Given the description of an element on the screen output the (x, y) to click on. 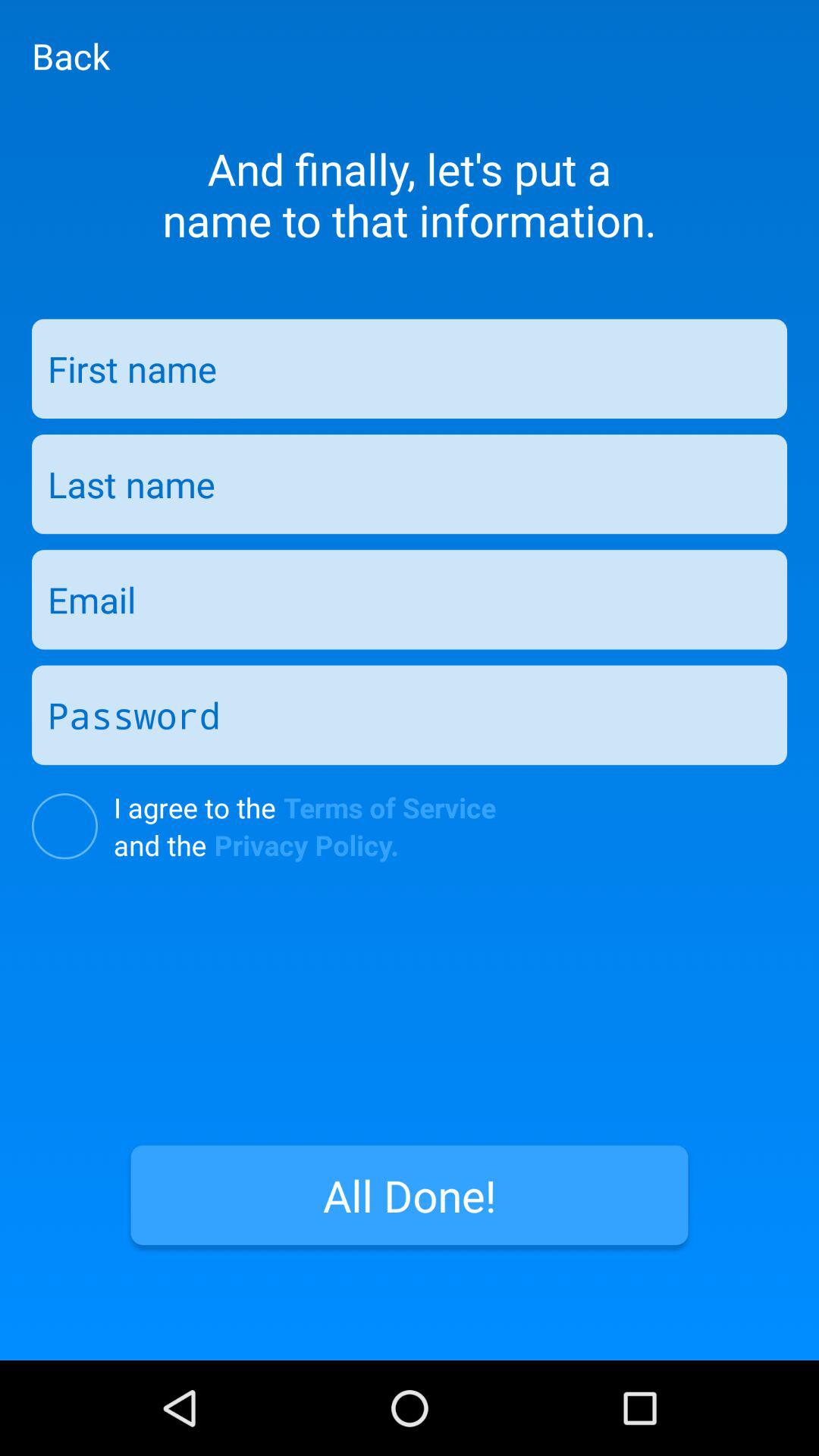
send email (409, 599)
